Given the description of an element on the screen output the (x, y) to click on. 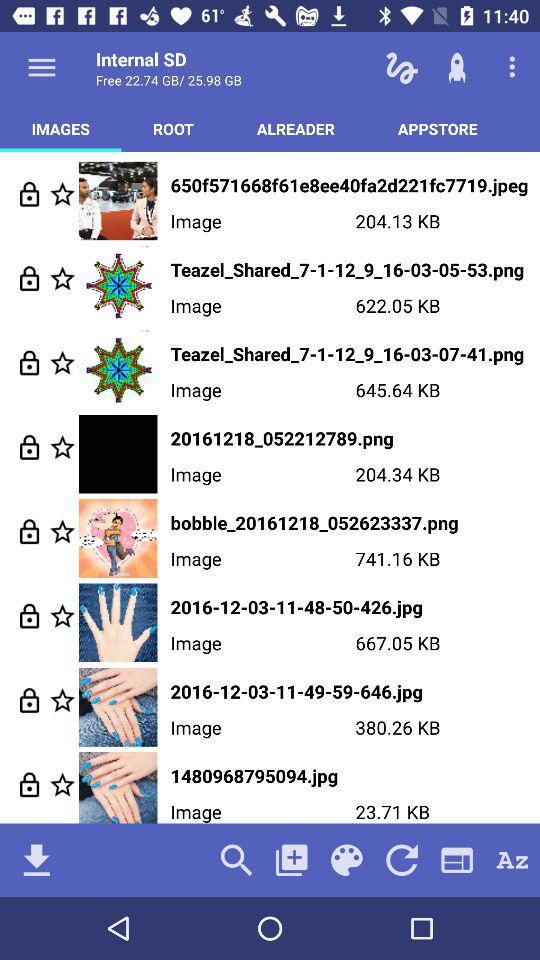
favorite this image (62, 615)
